Given the description of an element on the screen output the (x, y) to click on. 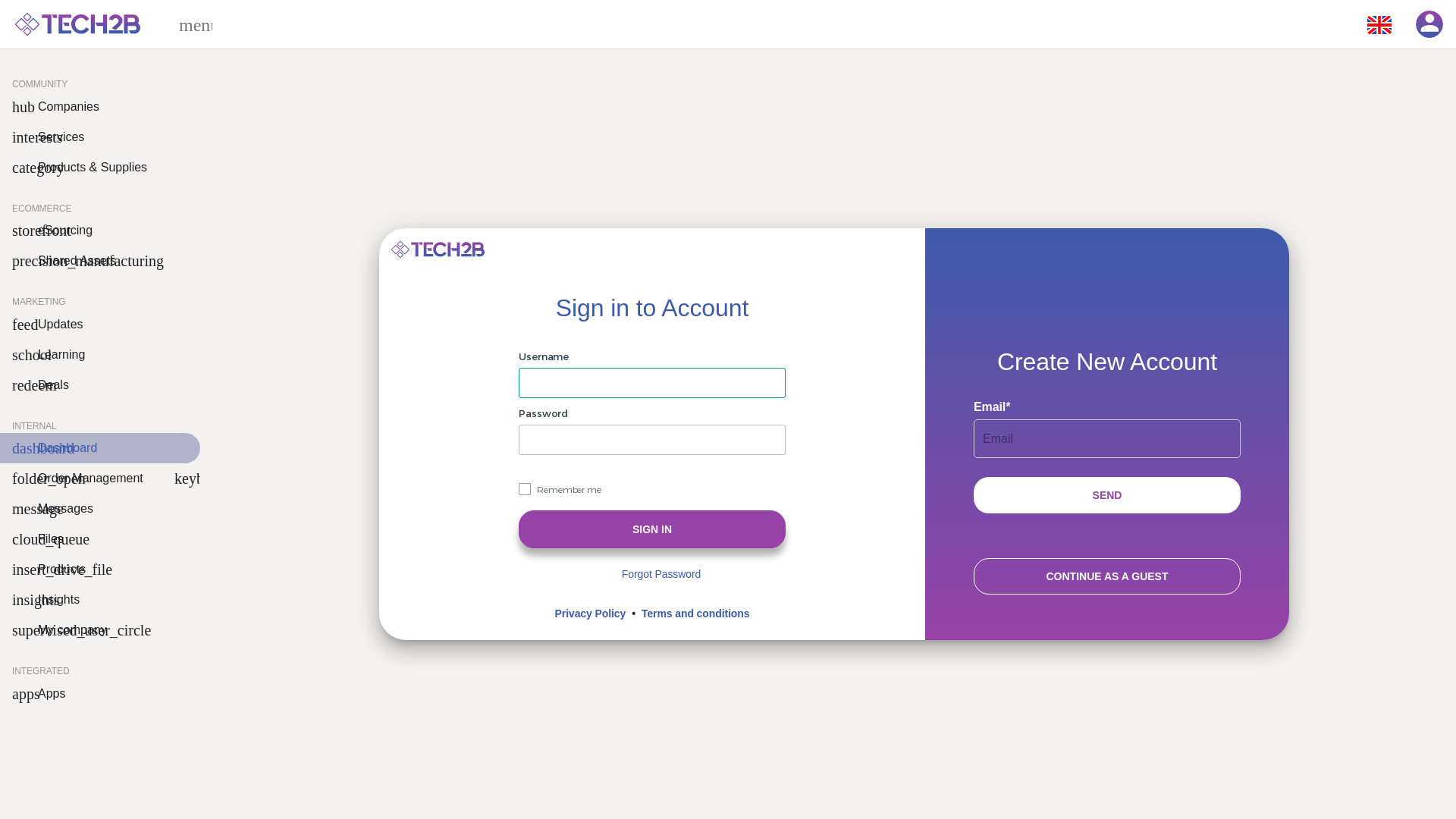
hub
Companies Element type: text (100, 106)
redeem
Deals Element type: text (100, 385)
precision_manufacturing
Shared Assets Element type: text (100, 260)
school
Learning Element type: text (100, 354)
insights
Insights Element type: text (100, 599)
supervised_user_circle
My company Element type: text (100, 630)
category
Products & Supplies Element type: text (100, 167)
insert_drive_file
Products Element type: text (100, 569)
apps
Apps Element type: text (100, 693)
Terms and conditions Element type: text (695, 613)
cloud_queue
Files Element type: text (100, 539)
dashboard
Dashboard Element type: text (100, 448)
storefront
eSourcing Element type: text (100, 230)
Sign In Element type: text (651, 529)
folder_open
Order Management
keyboard_arrow_right Element type: text (100, 478)
interests
Services Element type: text (100, 137)
feed
Updates Element type: text (100, 324)
SEND Element type: text (1106, 494)
message
Messages Element type: text (100, 508)
Forgot Password Element type: text (660, 574)
menu Element type: text (187, 24)
CONTINUE AS A GUEST Element type: text (1106, 576)
Privacy Policy Element type: text (590, 613)
